Given the description of an element on the screen output the (x, y) to click on. 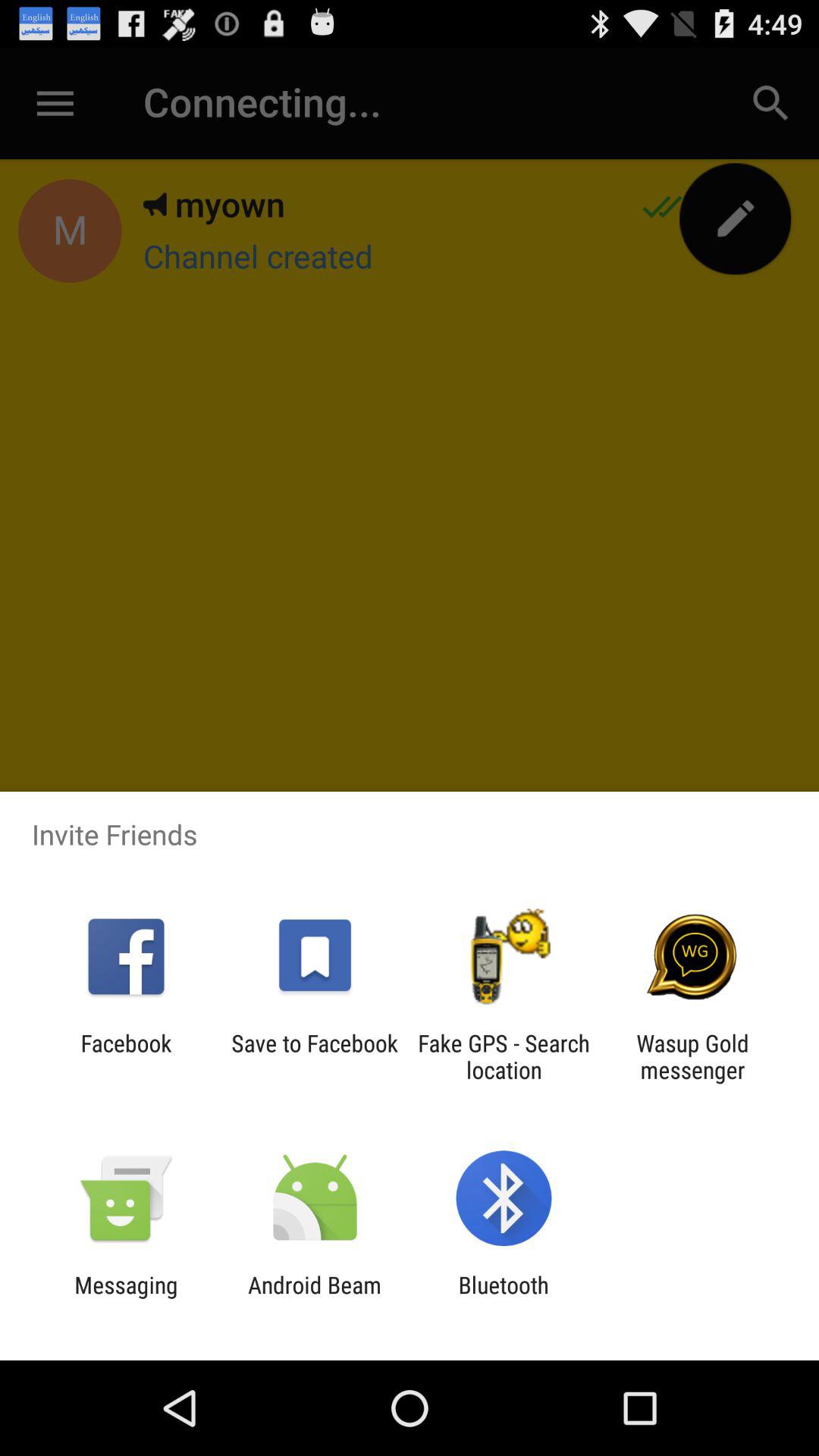
select the app next to facebook item (314, 1056)
